Given the description of an element on the screen output the (x, y) to click on. 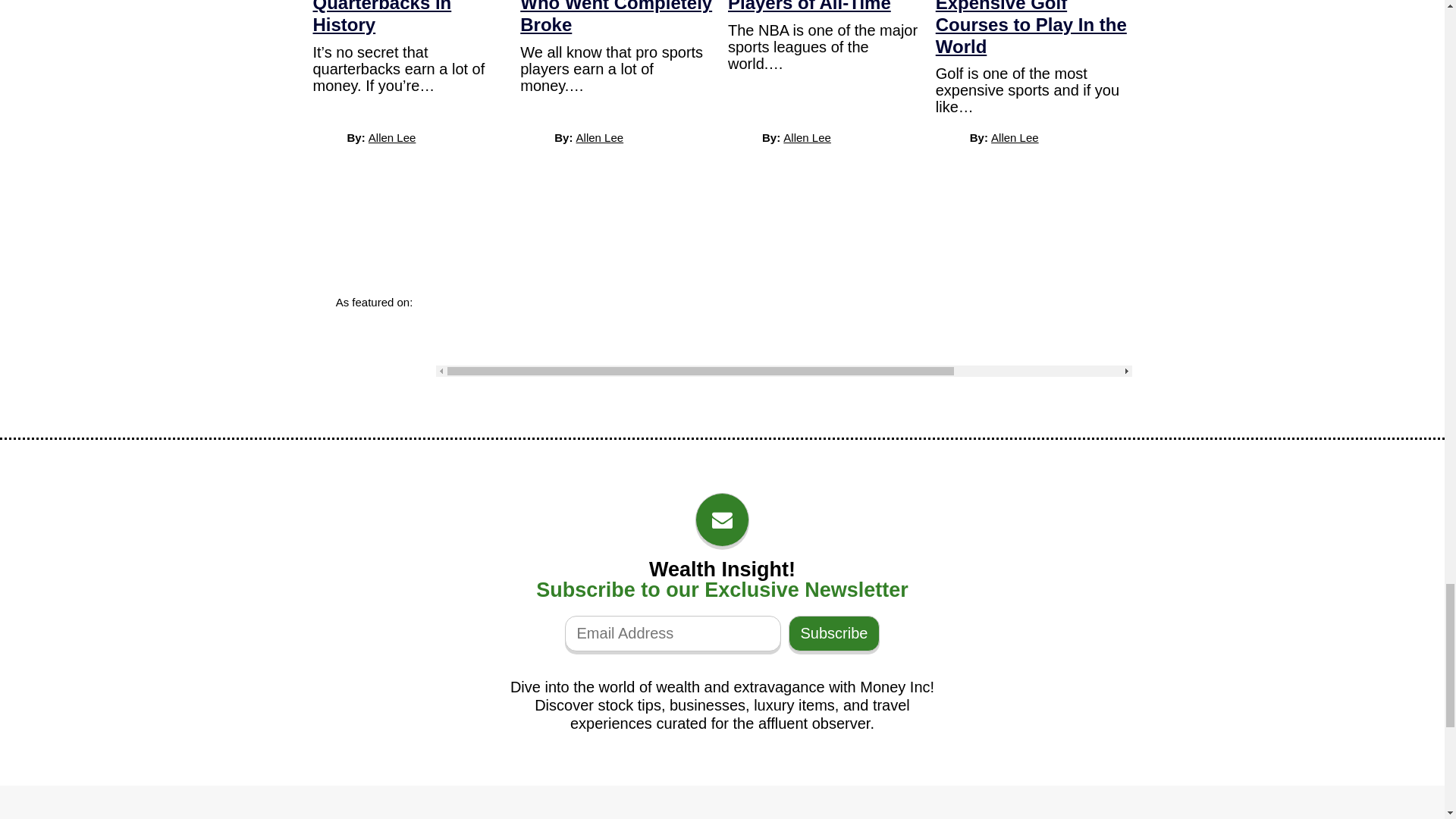
Subscribe (834, 633)
